Given the description of an element on the screen output the (x, y) to click on. 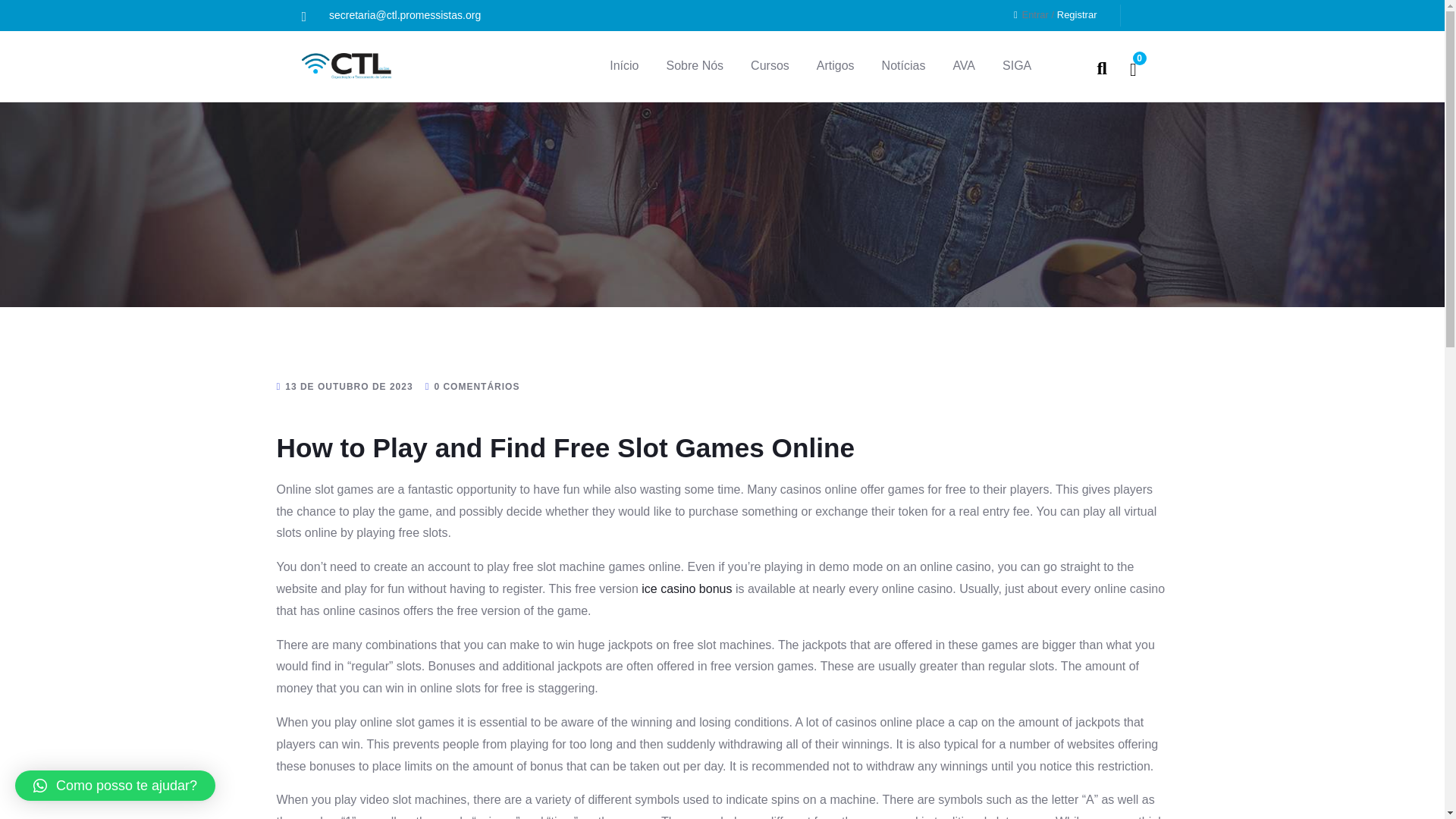
Registrar (1077, 14)
Home (346, 65)
Entrar (1035, 14)
ice casino bonus (687, 588)
